Given the description of an element on the screen output the (x, y) to click on. 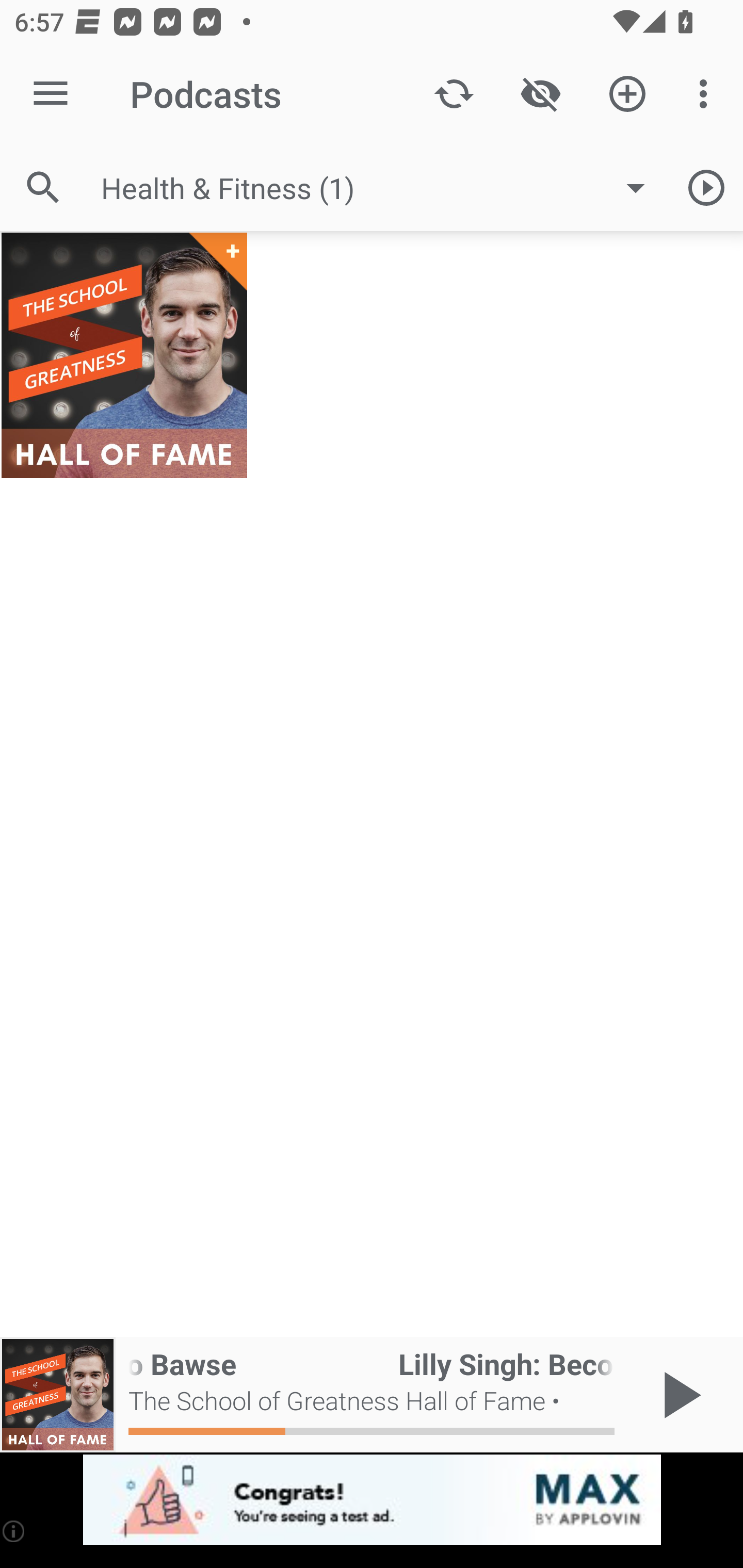
Open navigation sidebar (50, 93)
Update (453, 93)
Show / Hide played content (540, 93)
Add new Podcast (626, 93)
More options (706, 93)
Search (43, 187)
Health & Fitness (1) (382, 188)
The School of Greatness Hall of Fame + (124, 355)
Play / Pause (677, 1394)
app-monetization (371, 1500)
(i) (14, 1531)
